Given the description of an element on the screen output the (x, y) to click on. 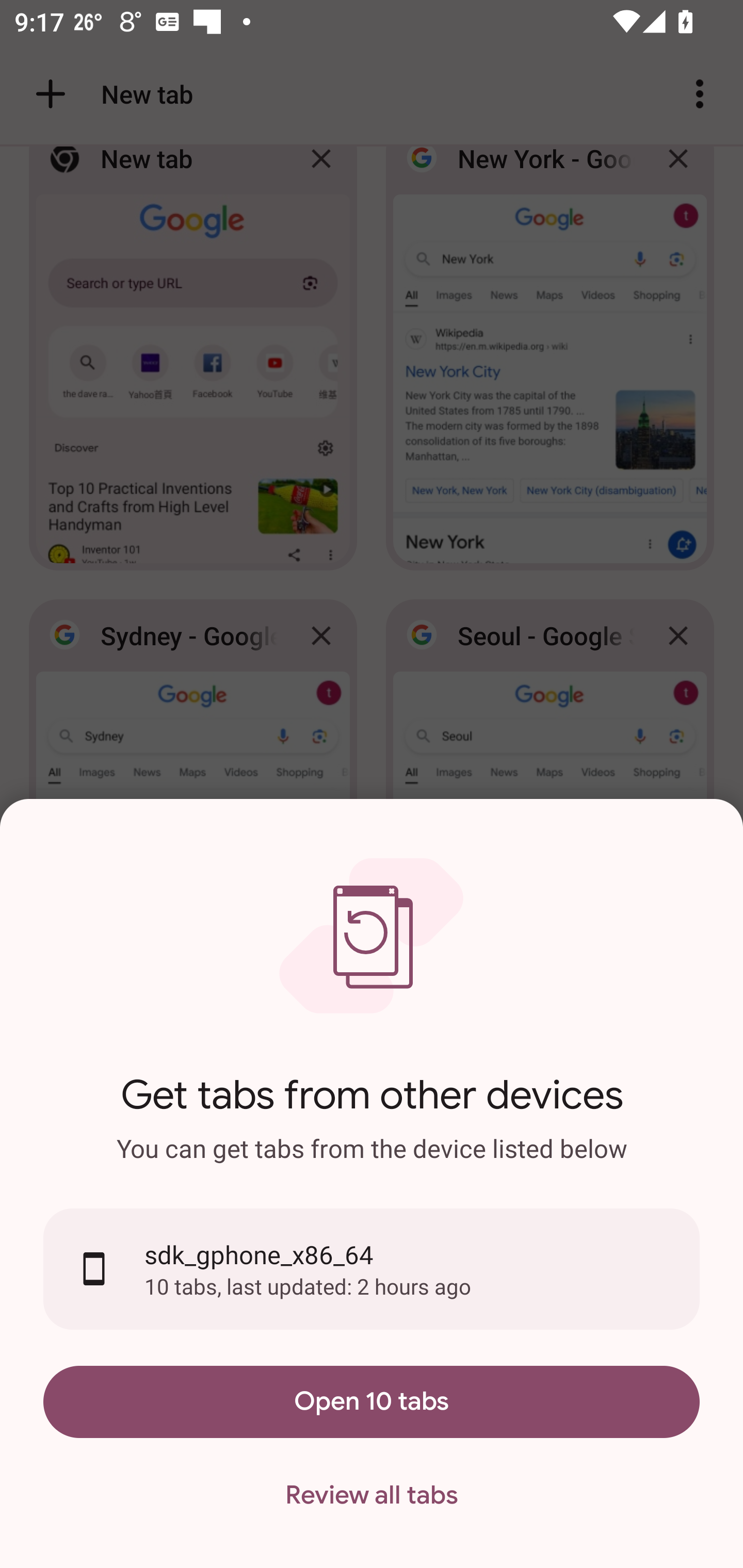
Open 10 tabs (371, 1401)
Review all tabs (371, 1495)
